Given the description of an element on the screen output the (x, y) to click on. 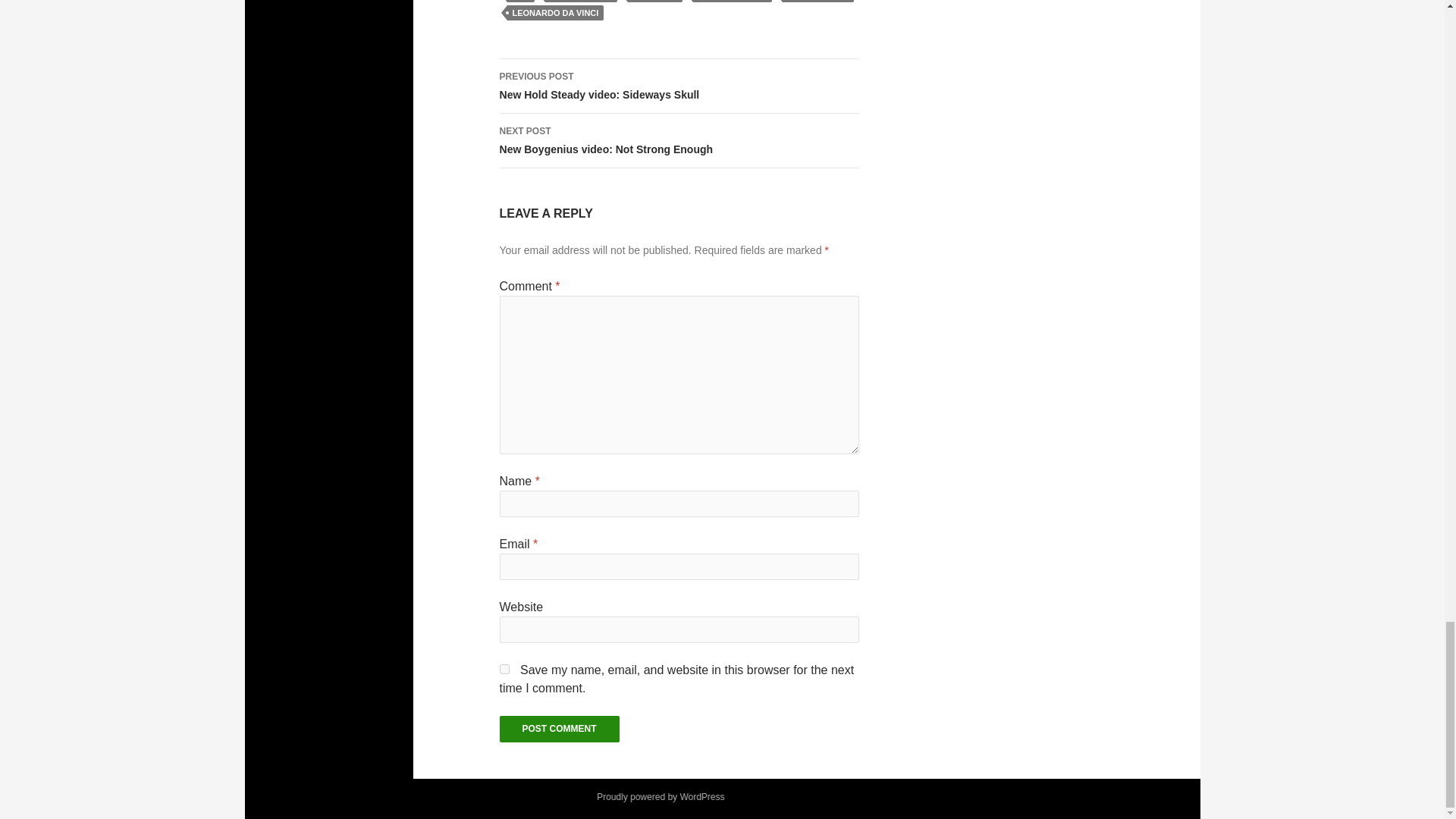
yes (504, 669)
Post Comment (559, 728)
FRANK SINATRA (732, 1)
Post Comment (559, 728)
ART (520, 1)
AUTHENTICITY (679, 85)
JOHN LENNON (679, 140)
LEONARDO DA VINCI (580, 1)
